Given the description of an element on the screen output the (x, y) to click on. 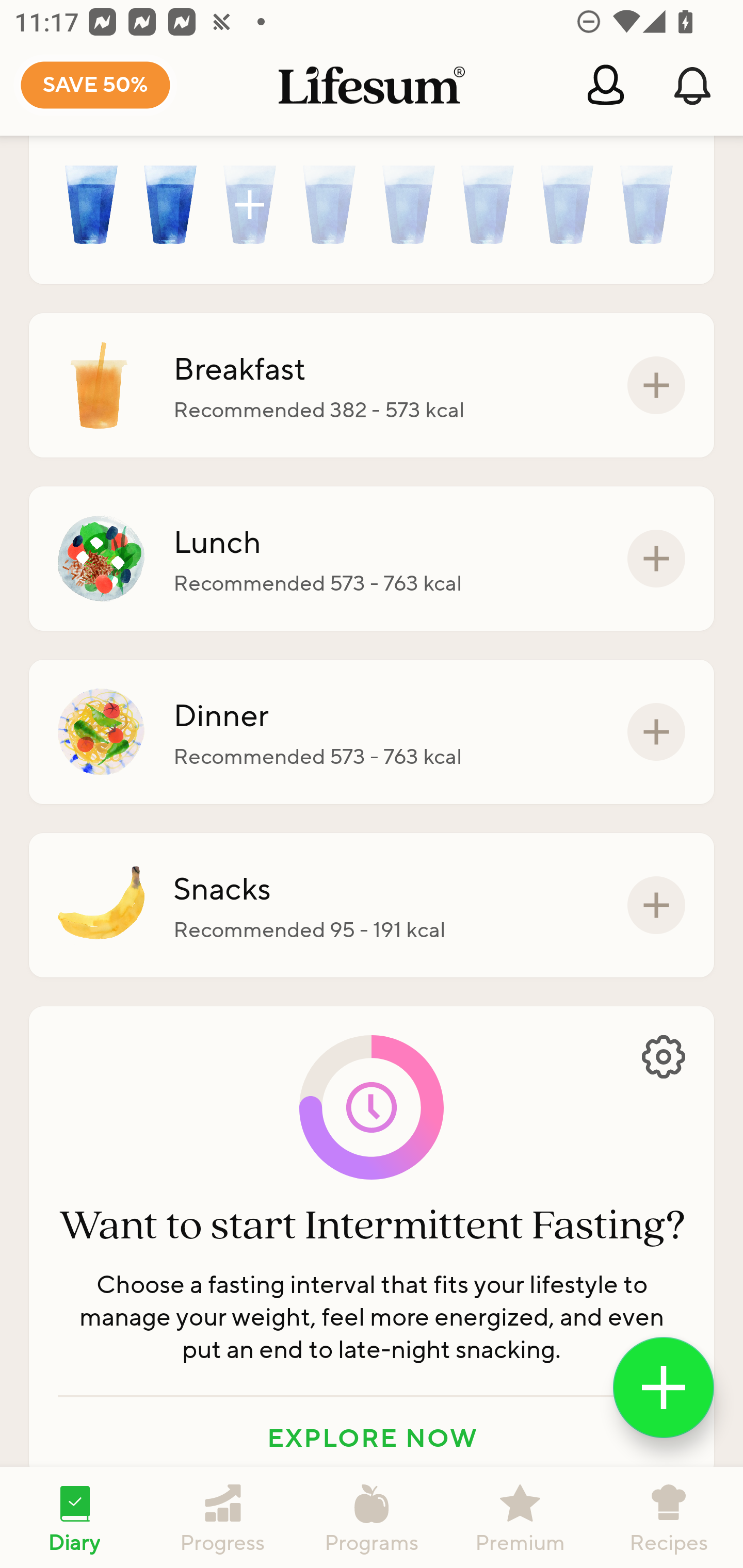
Breakfast Recommended 382 - 573 kcal (371, 385)
Lunch Recommended 573 - 763 kcal (371, 558)
Dinner Recommended 573 - 763 kcal (371, 732)
Snacks Recommended 95 - 191 kcal (371, 904)
EXPLORE NOW (371, 1437)
Progress (222, 1517)
Programs (371, 1517)
Premium (519, 1517)
Recipes (668, 1517)
